Given the description of an element on the screen output the (x, y) to click on. 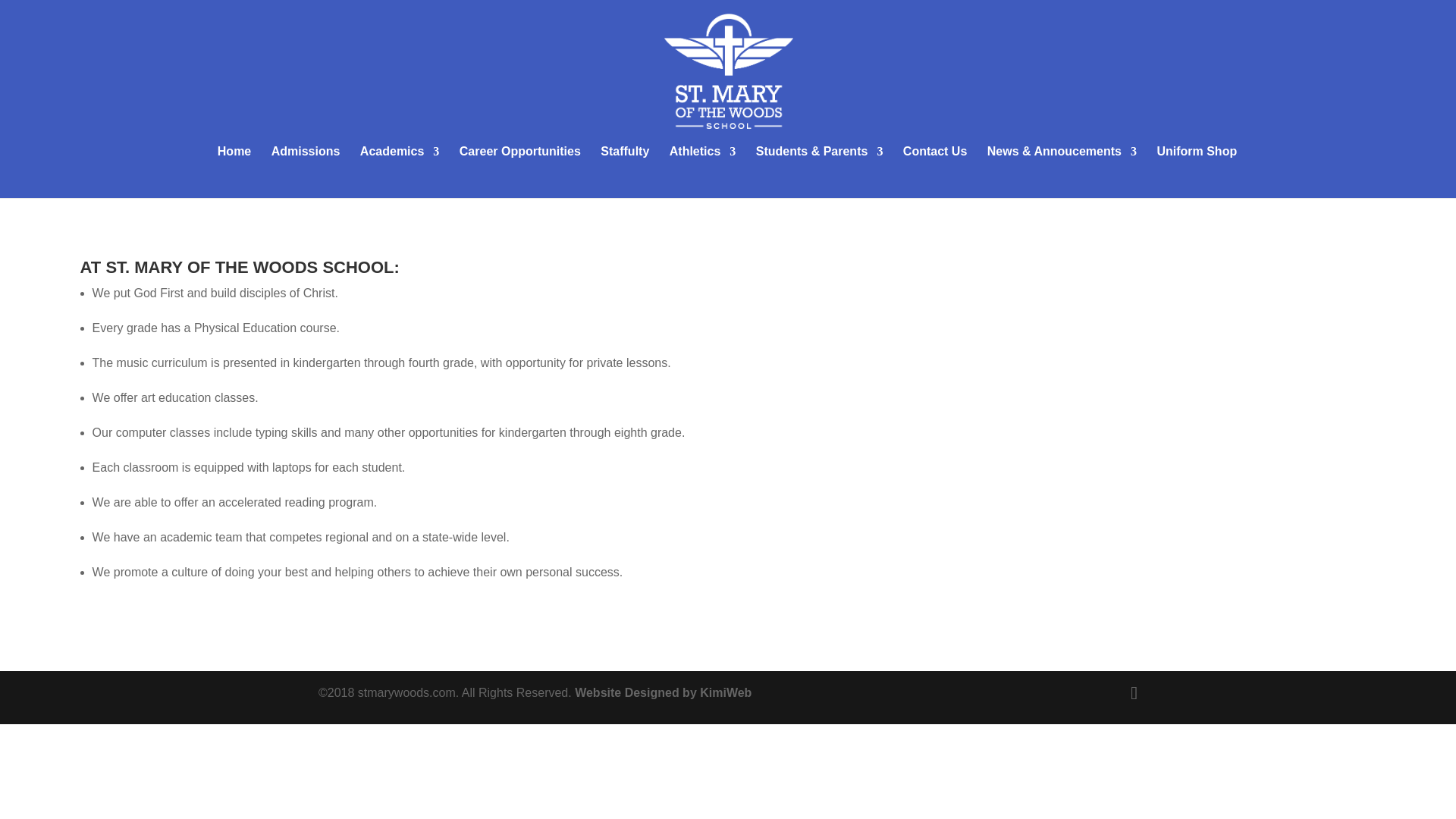
Admissions (305, 164)
Home (233, 164)
Academics (399, 164)
Uniform Shop (1196, 164)
Staffulty (624, 164)
Contact Us (934, 164)
Athletics (702, 164)
Career Opportunities (520, 164)
